Given the description of an element on the screen output the (x, y) to click on. 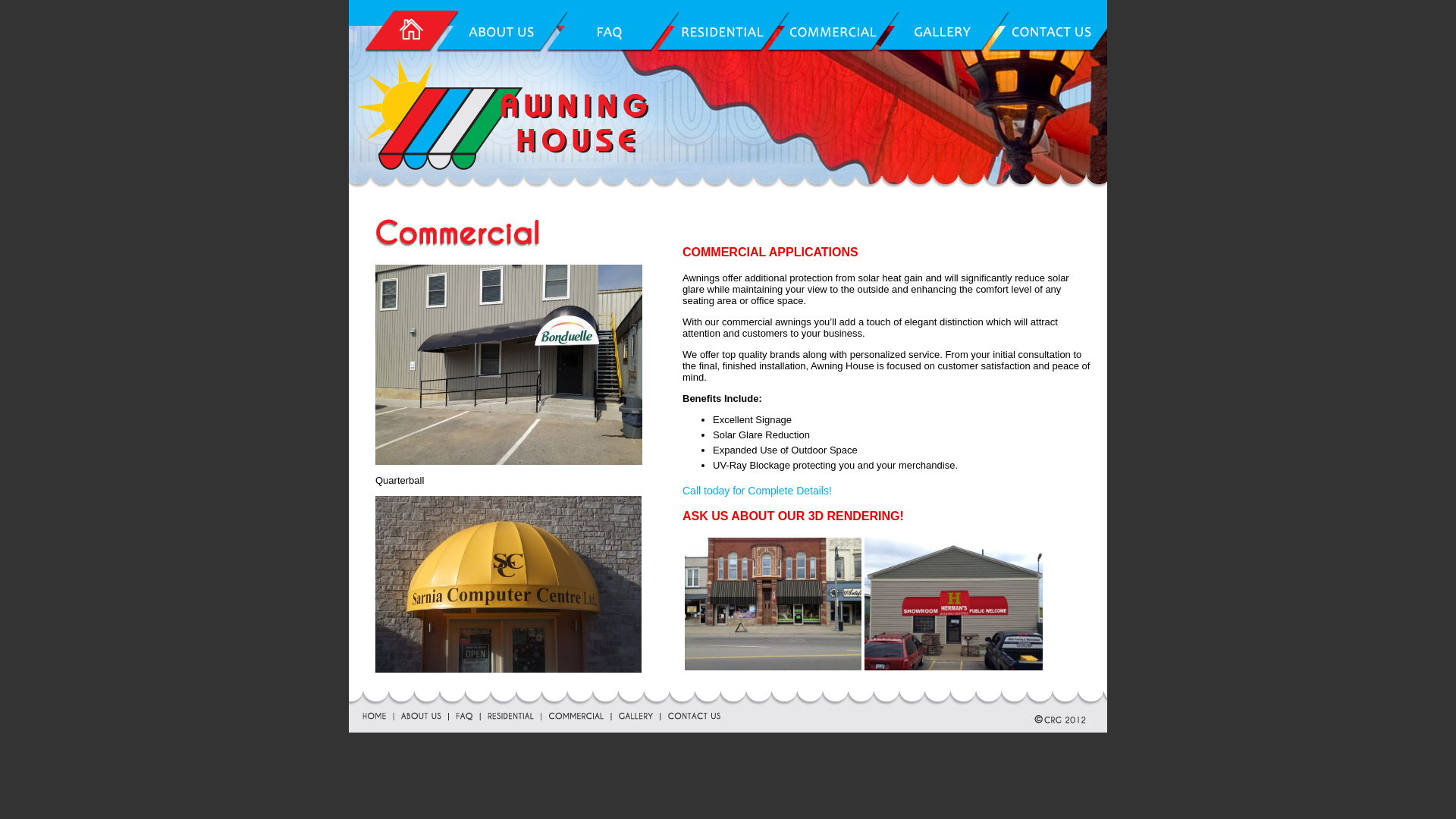
3d rendering Element type: hover (953, 603)
Quarterball with Lettering Element type: hover (508, 583)
header-commercial Element type: hover (496, 229)
3d rendering1 Element type: hover (772, 603)
IMG_0905 Element type: hover (508, 364)
